Given the description of an element on the screen output the (x, y) to click on. 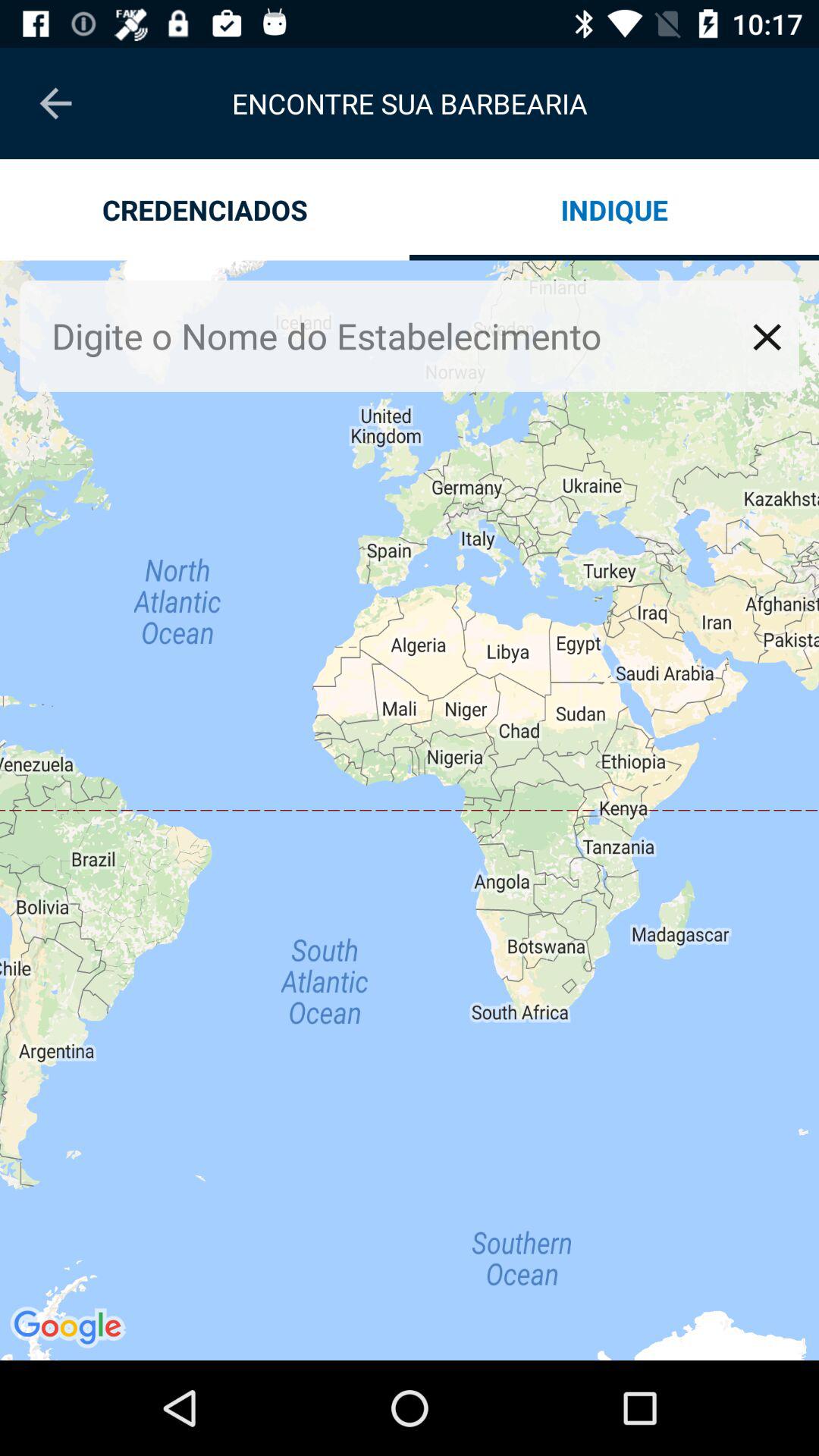
press icon below encontre sua barbearia icon (614, 209)
